Given the description of an element on the screen output the (x, y) to click on. 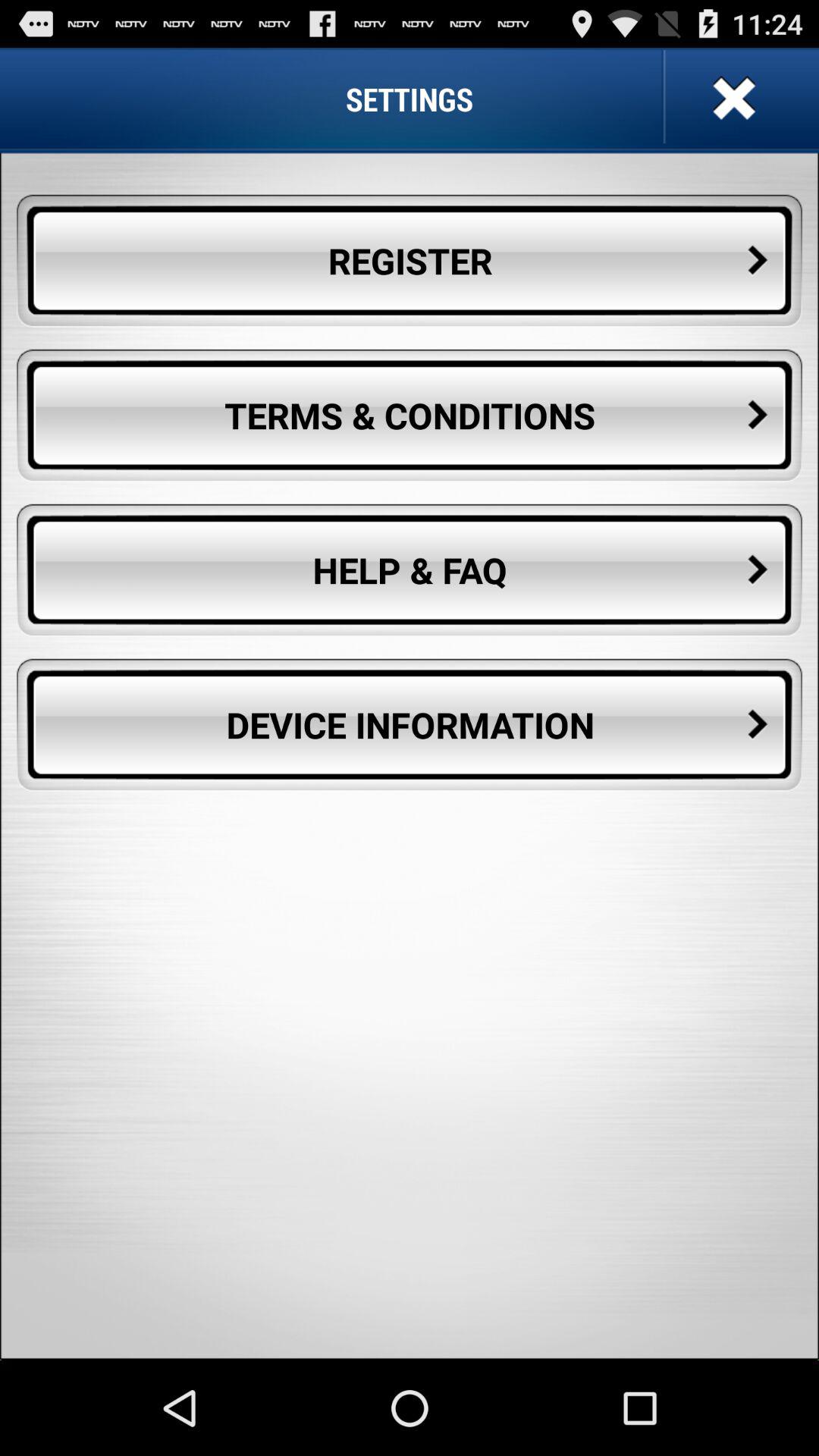
flip until help & faq (409, 570)
